Given the description of an element on the screen output the (x, y) to click on. 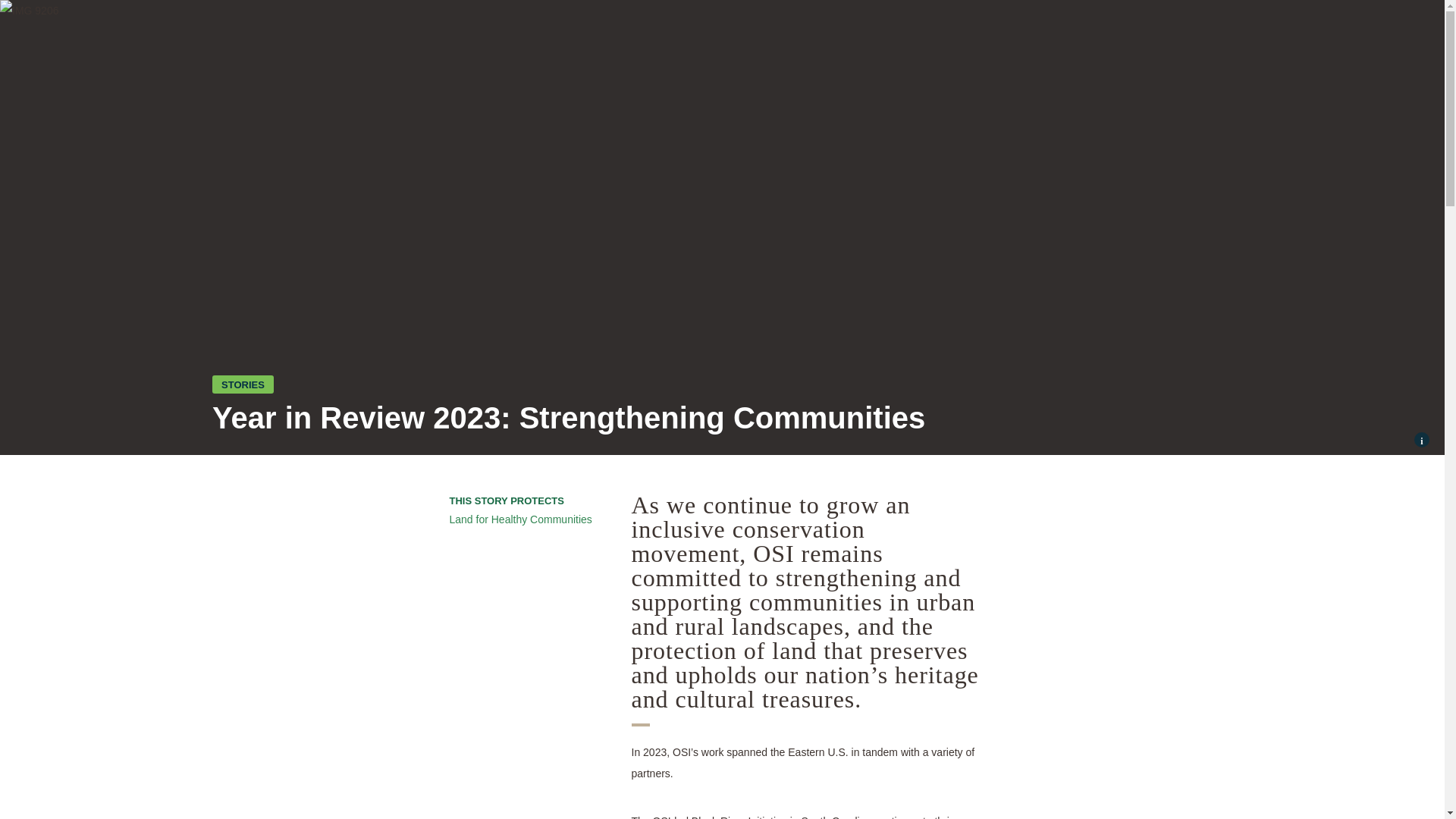
STORIES (242, 384)
